Given the description of an element on the screen output the (x, y) to click on. 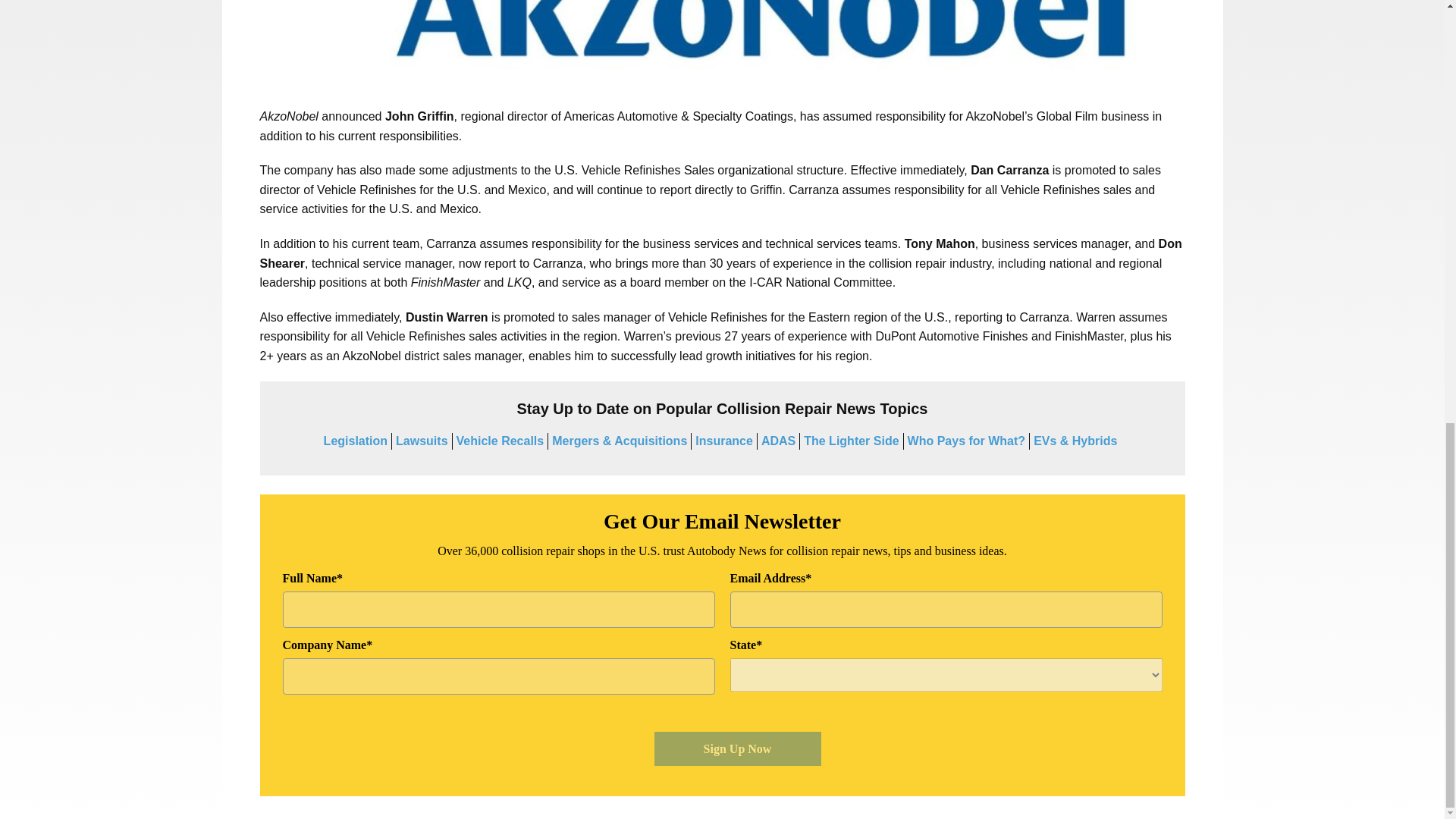
Who Pays for What? (966, 440)
Insurance (723, 440)
ADAS (777, 440)
Lawsuits (421, 440)
The Lighter Side (850, 440)
Legislation (355, 440)
Vehicle Recalls (500, 440)
